Given the description of an element on the screen output the (x, y) to click on. 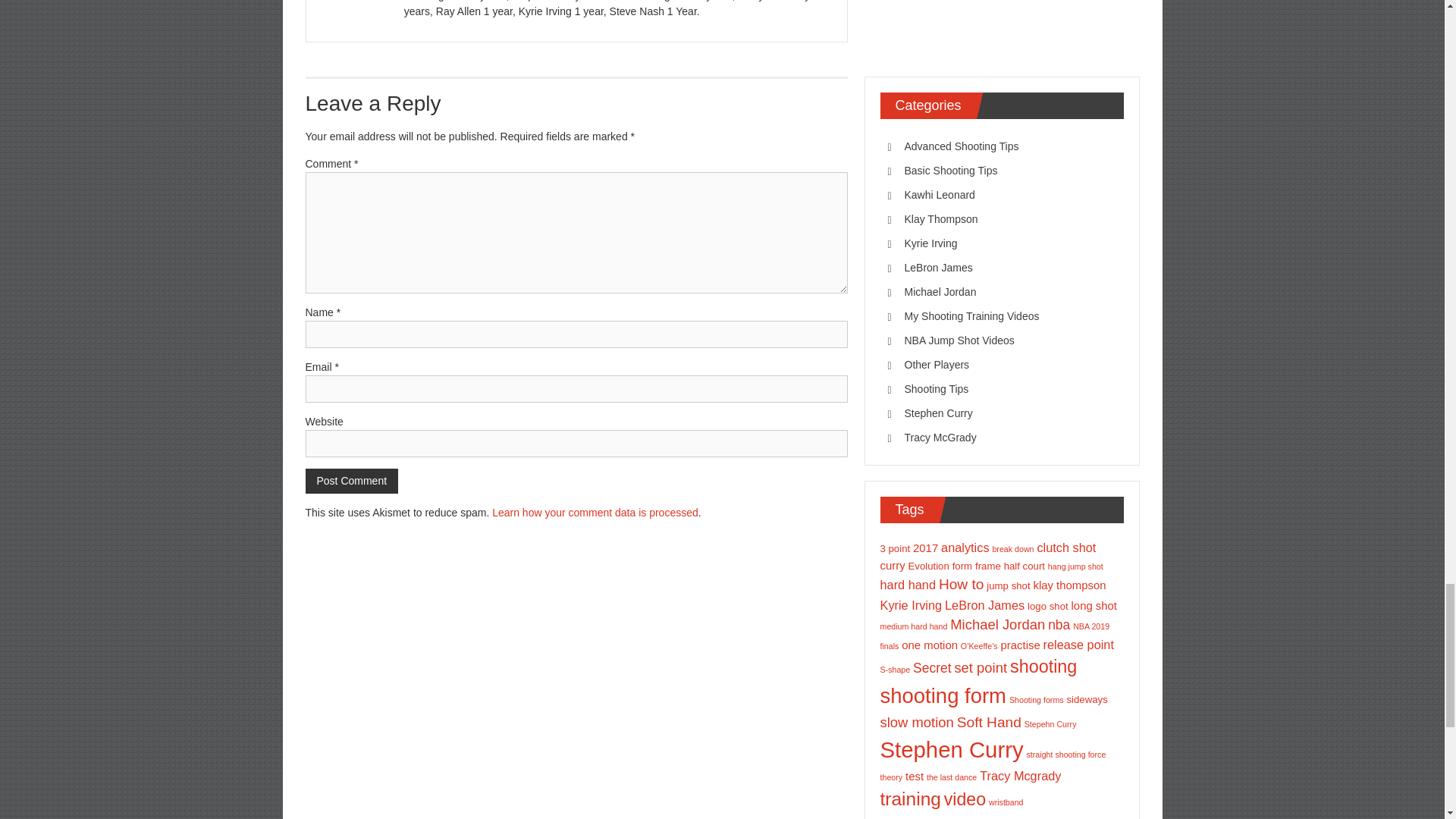
Post Comment (350, 480)
